Given the description of an element on the screen output the (x, y) to click on. 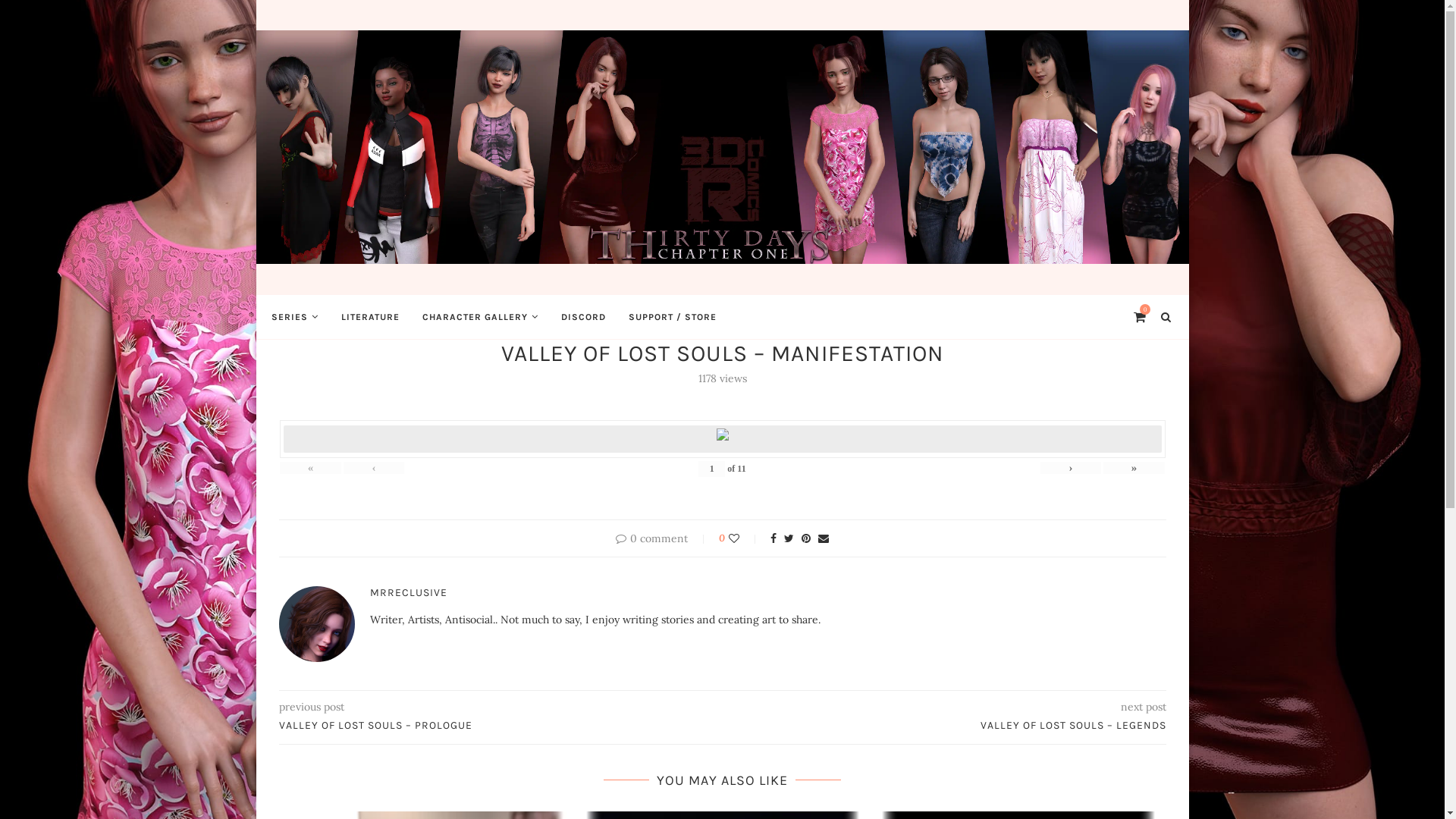
SUPPORT / STORE Element type: text (671, 316)
LITERATURE Element type: text (370, 316)
CHARACTER GALLERY Element type: text (479, 316)
Like Element type: hover (743, 537)
MRRECLUSIVE Element type: text (408, 591)
SERIES Element type: text (294, 316)
DISCORD Element type: text (583, 316)
0 Element type: text (1138, 316)
VOLS-Manifestation Element type: hover (721, 433)
